Given the description of an element on the screen output the (x, y) to click on. 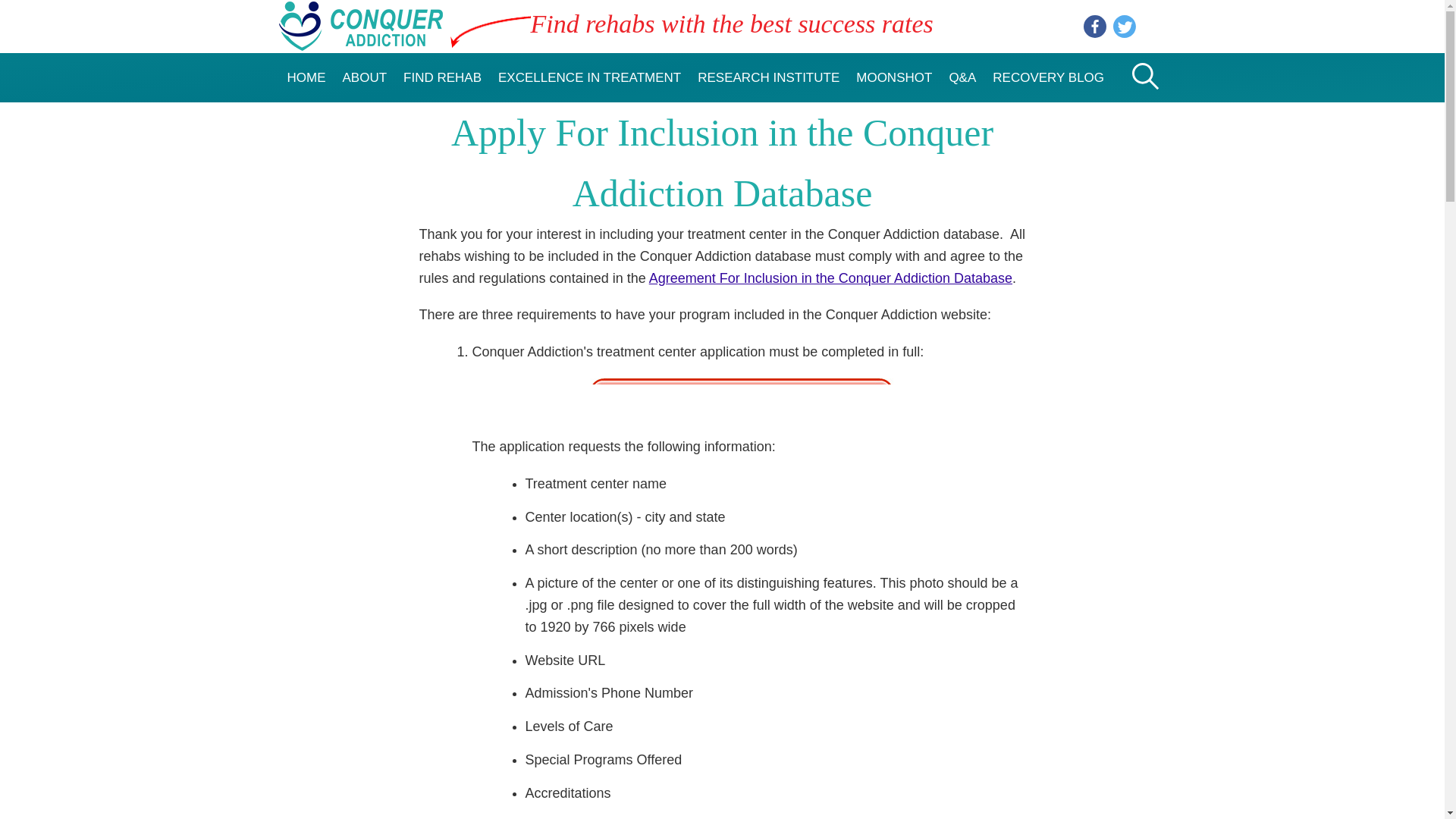
MOONSHOT (893, 77)
Instagram (1154, 26)
RECOVERY BLOG (1048, 77)
Twitter (1124, 26)
RESEARCH INSTITUTE (767, 77)
Twitter (1124, 26)
ABOUT (363, 77)
Home (360, 41)
EXCELLENCE IN TREATMENT (588, 77)
HOME (306, 77)
Search (1141, 132)
LinkedIn (1094, 26)
Facebook (1094, 26)
Agreement For Inclusion in the Conquer Addiction Database (830, 278)
Instagram (1154, 26)
